Given the description of an element on the screen output the (x, y) to click on. 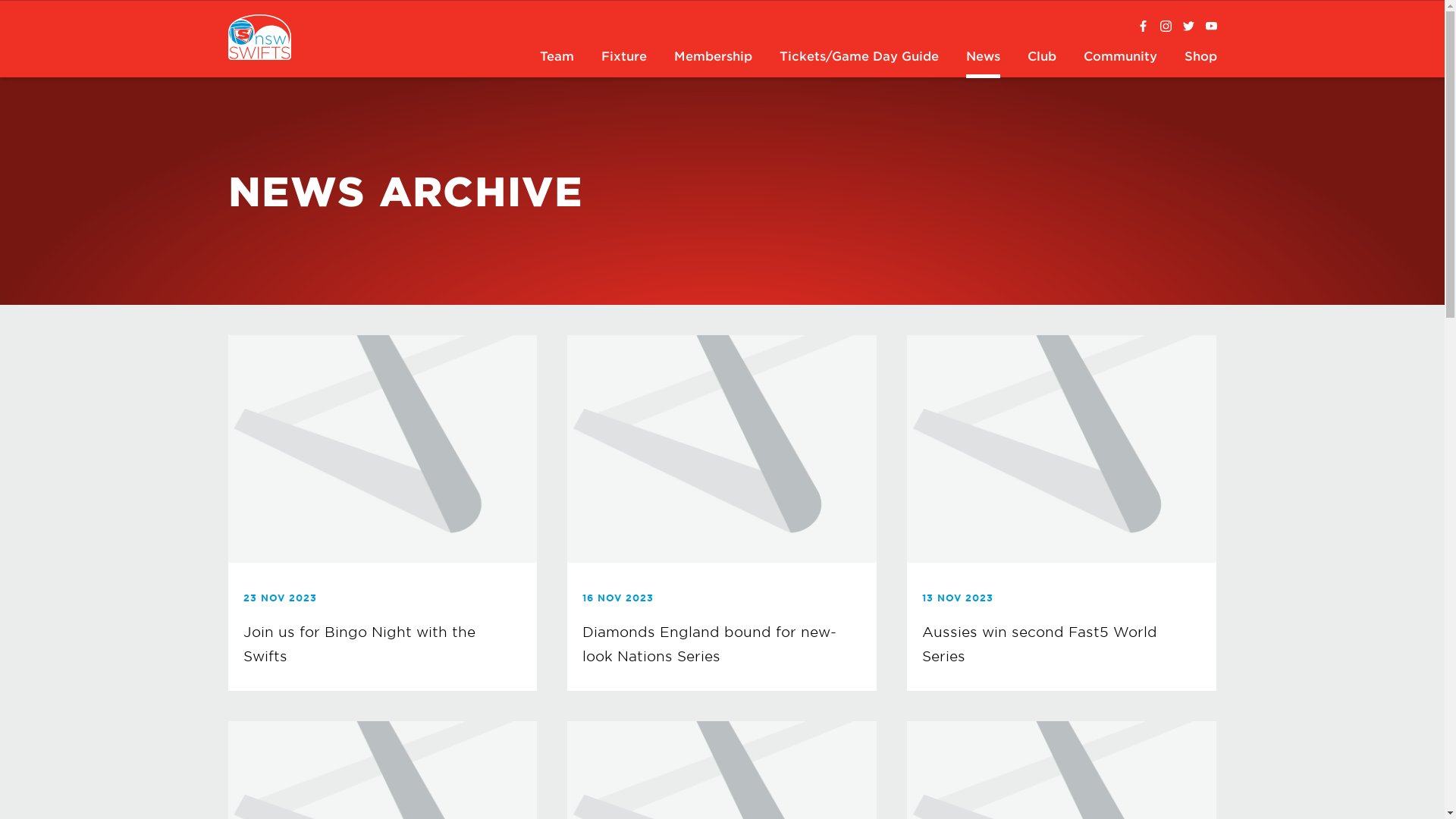
News Element type: text (981, 57)
Shop Element type: text (1199, 57)
Club Element type: text (1041, 57)
13 NOV 2023
Aussies win second Fast5 World Series Element type: text (1061, 512)
23 NOV 2023
Join us for Bingo Night with the Swifts Element type: text (382, 512)
Community Element type: text (1120, 57)
Swifts Facebook Element type: hover (1142, 26)
Team Element type: text (555, 57)
@NSWSwifts Element type: hover (1188, 26)
NSWSwiftsTV Element type: hover (1211, 26)
@nswswifts Element type: hover (1165, 26)
Fixture Element type: text (623, 57)
Membership Element type: text (712, 57)
Tickets/Game Day Guide Element type: text (858, 57)
